Given the description of an element on the screen output the (x, y) to click on. 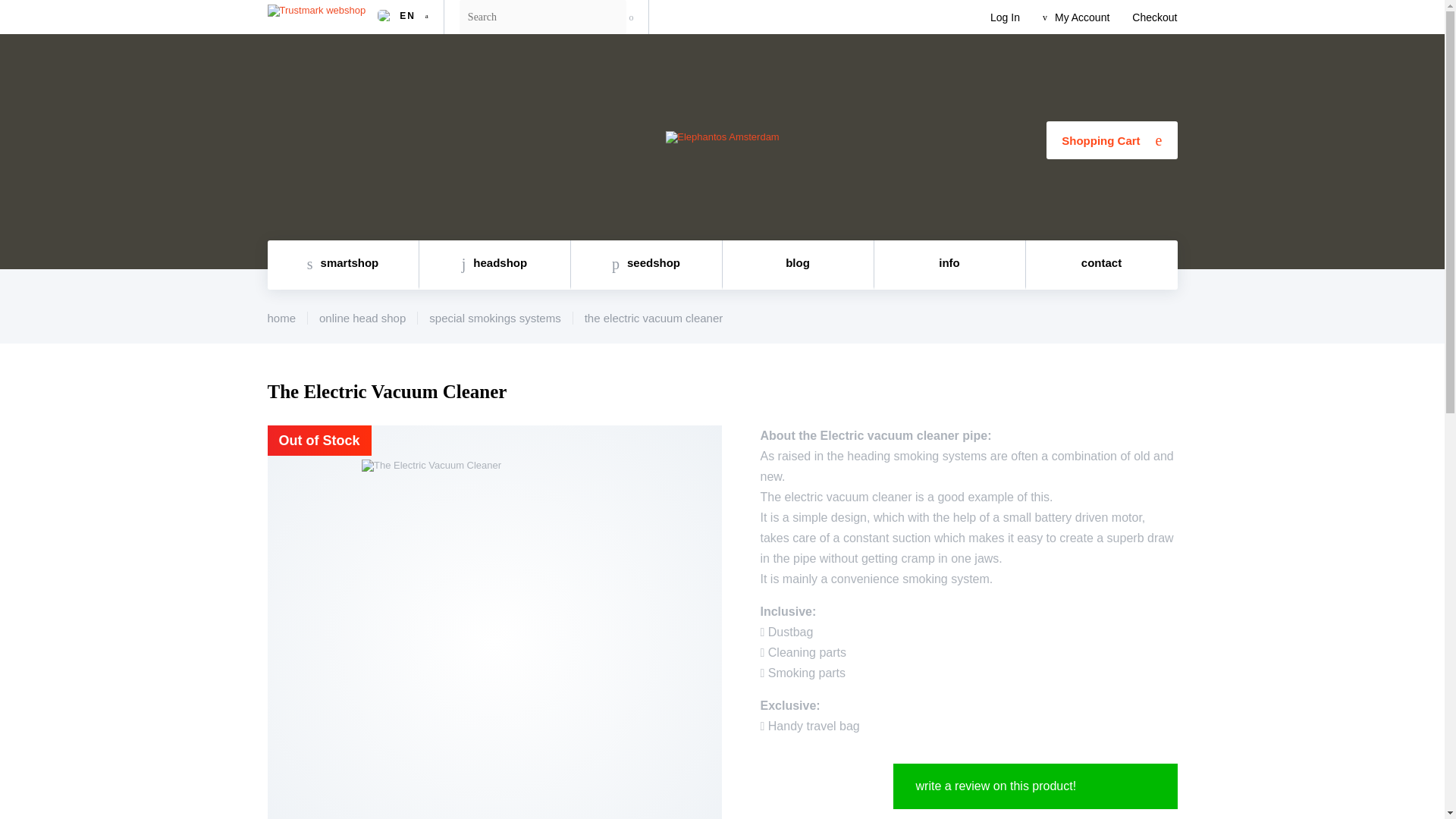
Trustmark webshop (317, 17)
